Given the description of an element on the screen output the (x, y) to click on. 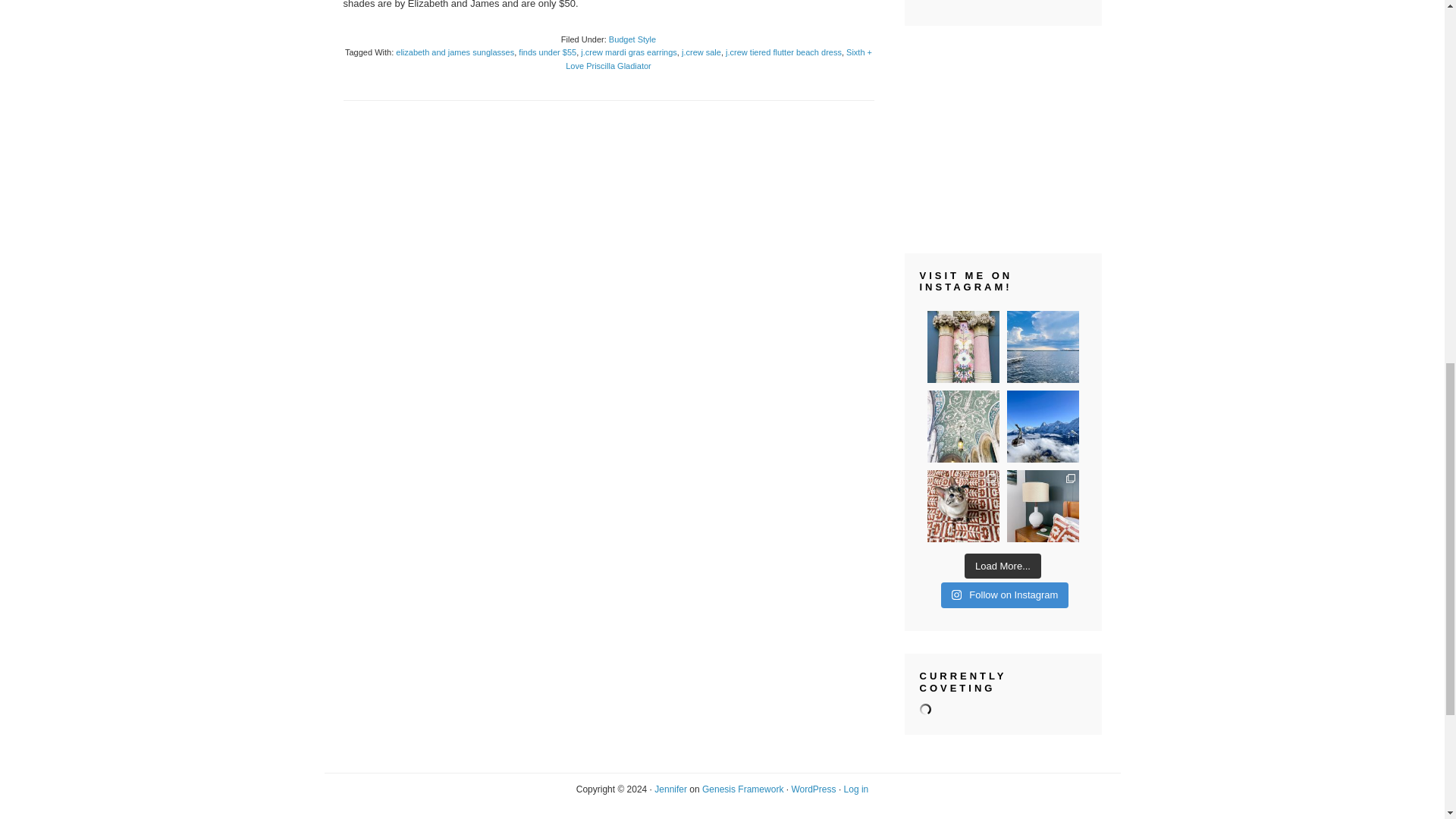
j.crew tiered flutter beach dress (783, 51)
j.crew sale (700, 51)
j.crew mardi gras earrings (628, 51)
elizabeth and james sunglasses (454, 51)
Budget Style (632, 39)
Advertisement (1002, 139)
